Given the description of an element on the screen output the (x, y) to click on. 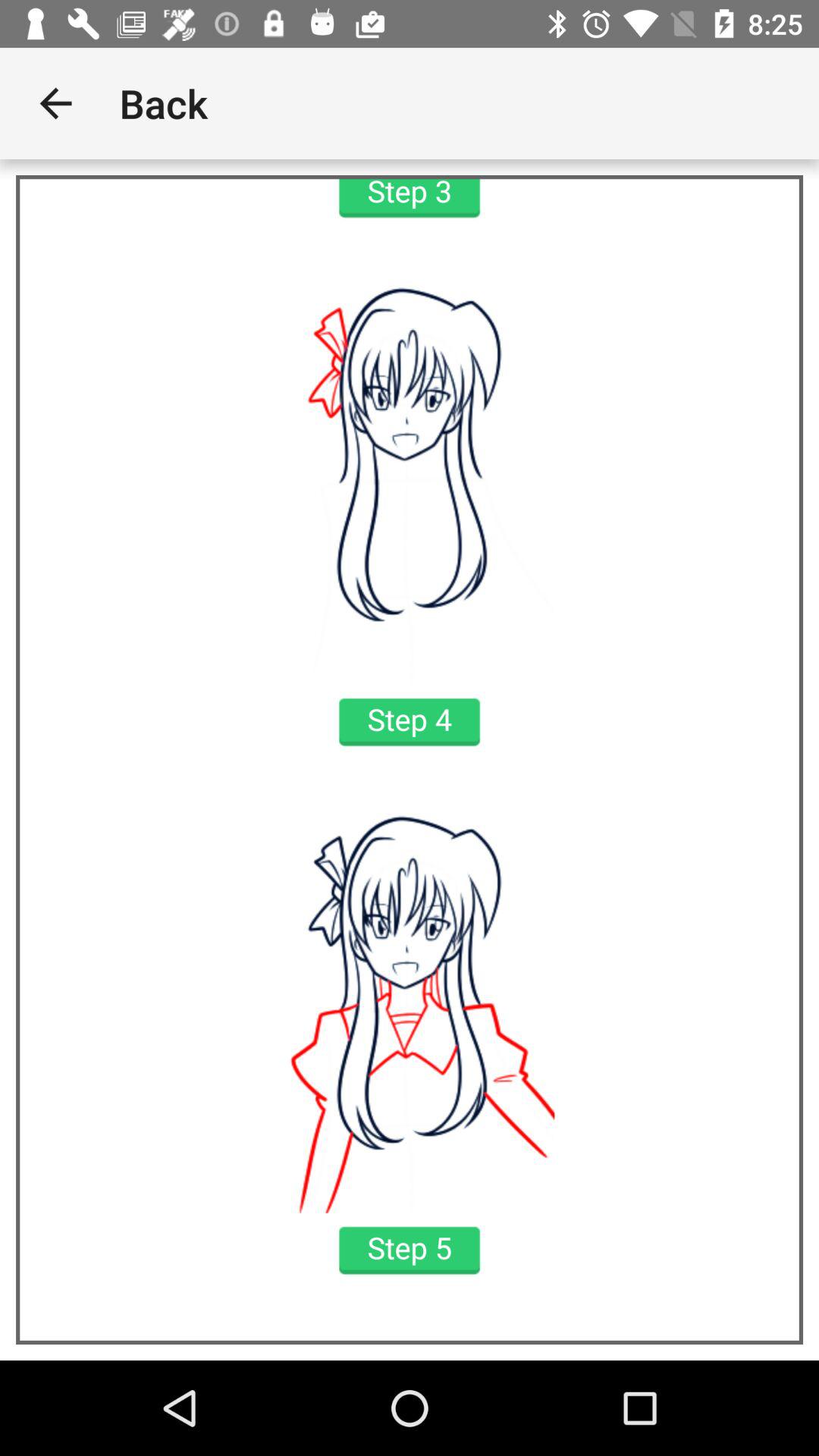
press the icon next to back app (55, 103)
